Given the description of an element on the screen output the (x, y) to click on. 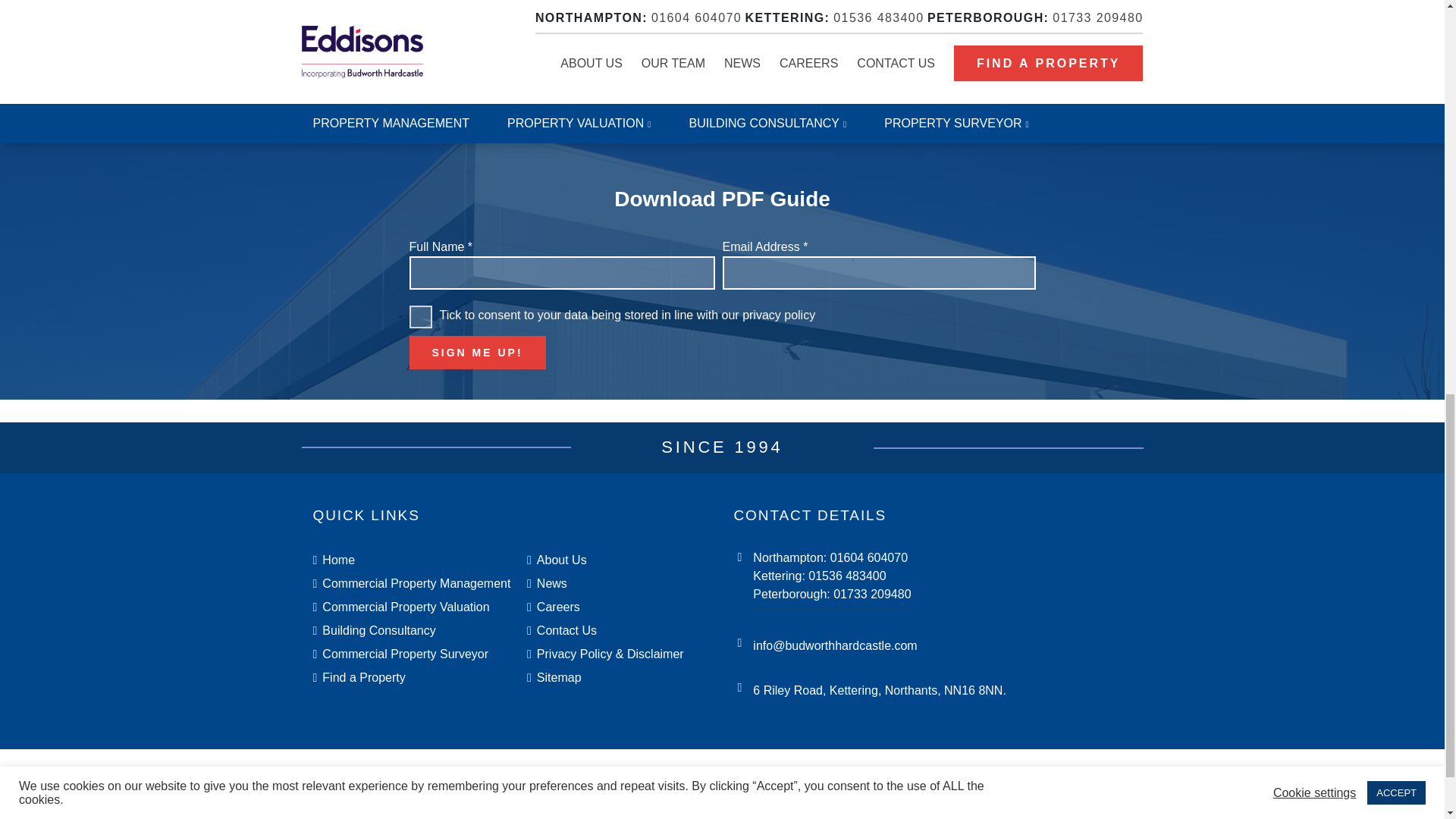
Sign me up! (477, 352)
